Given the description of an element on the screen output the (x, y) to click on. 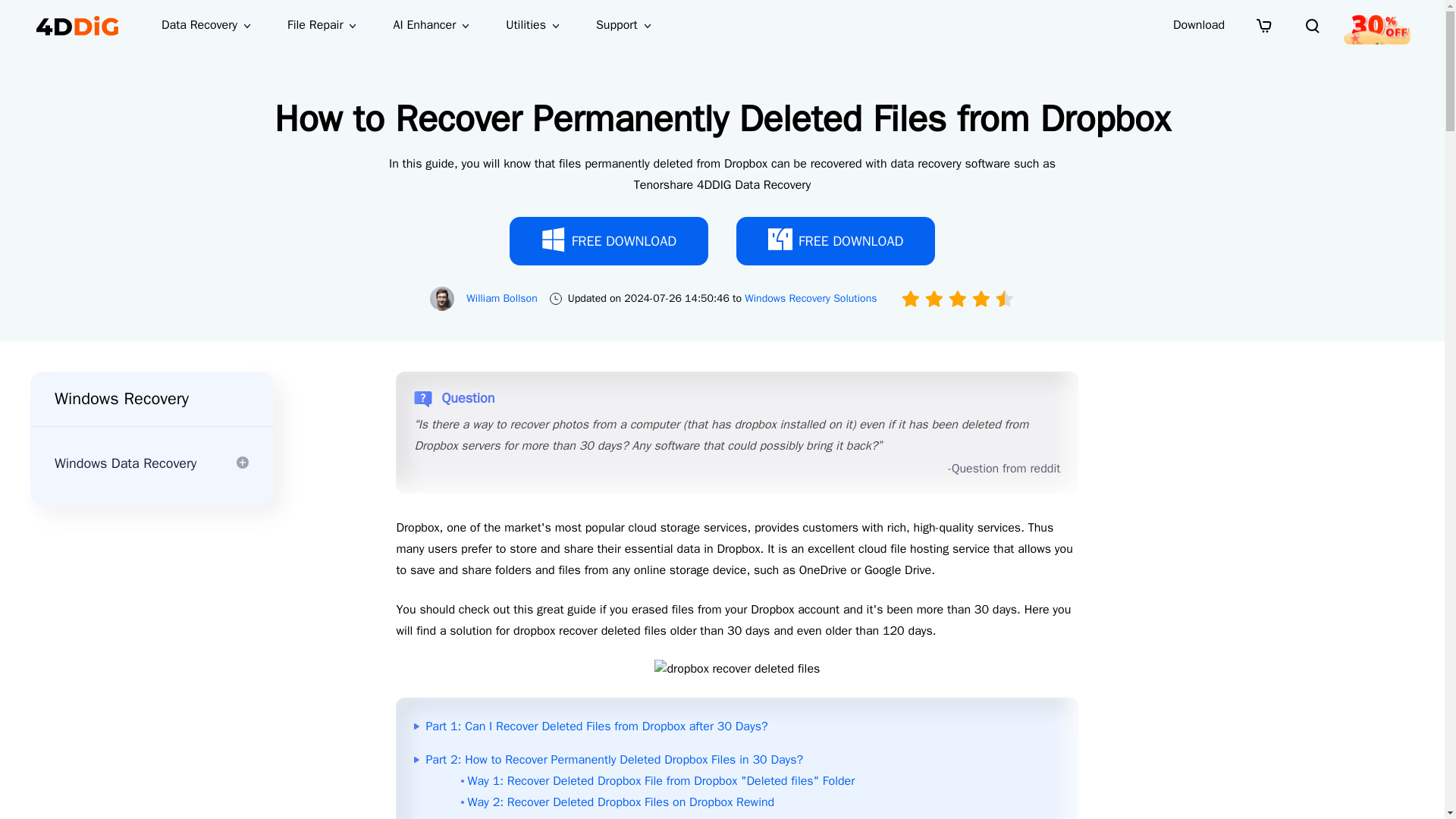
Data Recovery (205, 25)
File Repair (321, 25)
AI Enhancer (430, 25)
